Given the description of an element on the screen output the (x, y) to click on. 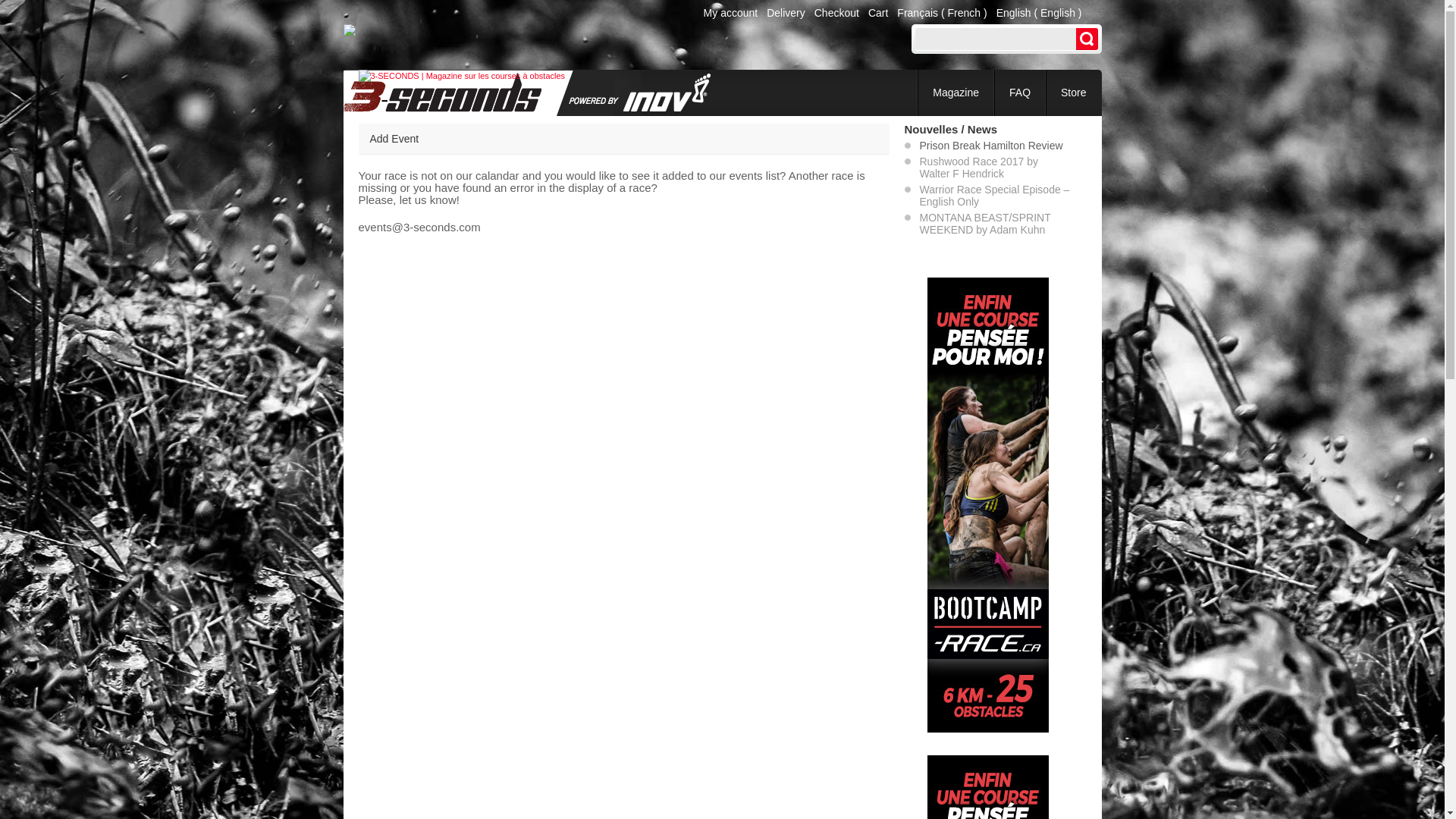
Delivery Element type: text (785, 12)
FAQ Element type: text (1019, 92)
My account Element type: text (730, 12)
Store Element type: text (1073, 92)
MONTANA BEAST/SPRINT WEEKEND by Adam Kuhn Element type: text (984, 223)
Magazine Element type: text (955, 92)
Rushwood Race 2017 by Walter F Hendrick Element type: text (978, 167)
Cart Element type: text (878, 12)
Checkout Element type: text (836, 12)
Search Element type: text (1086, 39)
English ( English ) Element type: text (1039, 12)
